Given the description of an element on the screen output the (x, y) to click on. 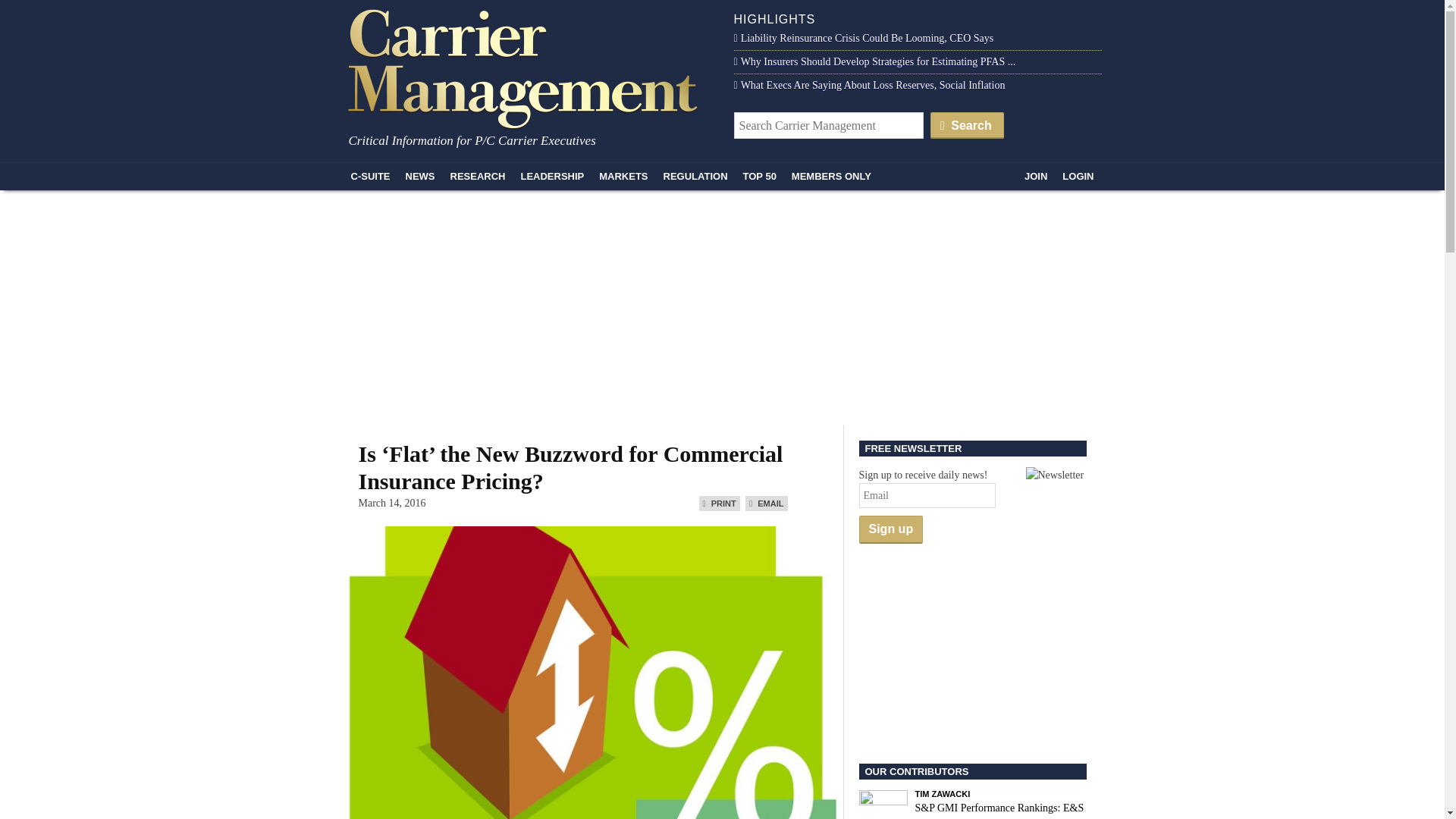
RESEARCH (477, 176)
Carrier Management (527, 67)
REGULATION (695, 176)
TOP 50 (759, 176)
MEMBERS ONLY (831, 176)
What Execs Are Saying About Loss Reserves, Social Inflation (869, 84)
LEADERSHIP (551, 176)
C-SUITE (369, 176)
NEWS (419, 176)
LOGIN (1077, 176)
Search (967, 125)
JOIN (1035, 176)
MARKETS (623, 176)
Liability Reinsurance Crisis Could Be Looming, CEO Says (863, 38)
